Given the description of an element on the screen output the (x, y) to click on. 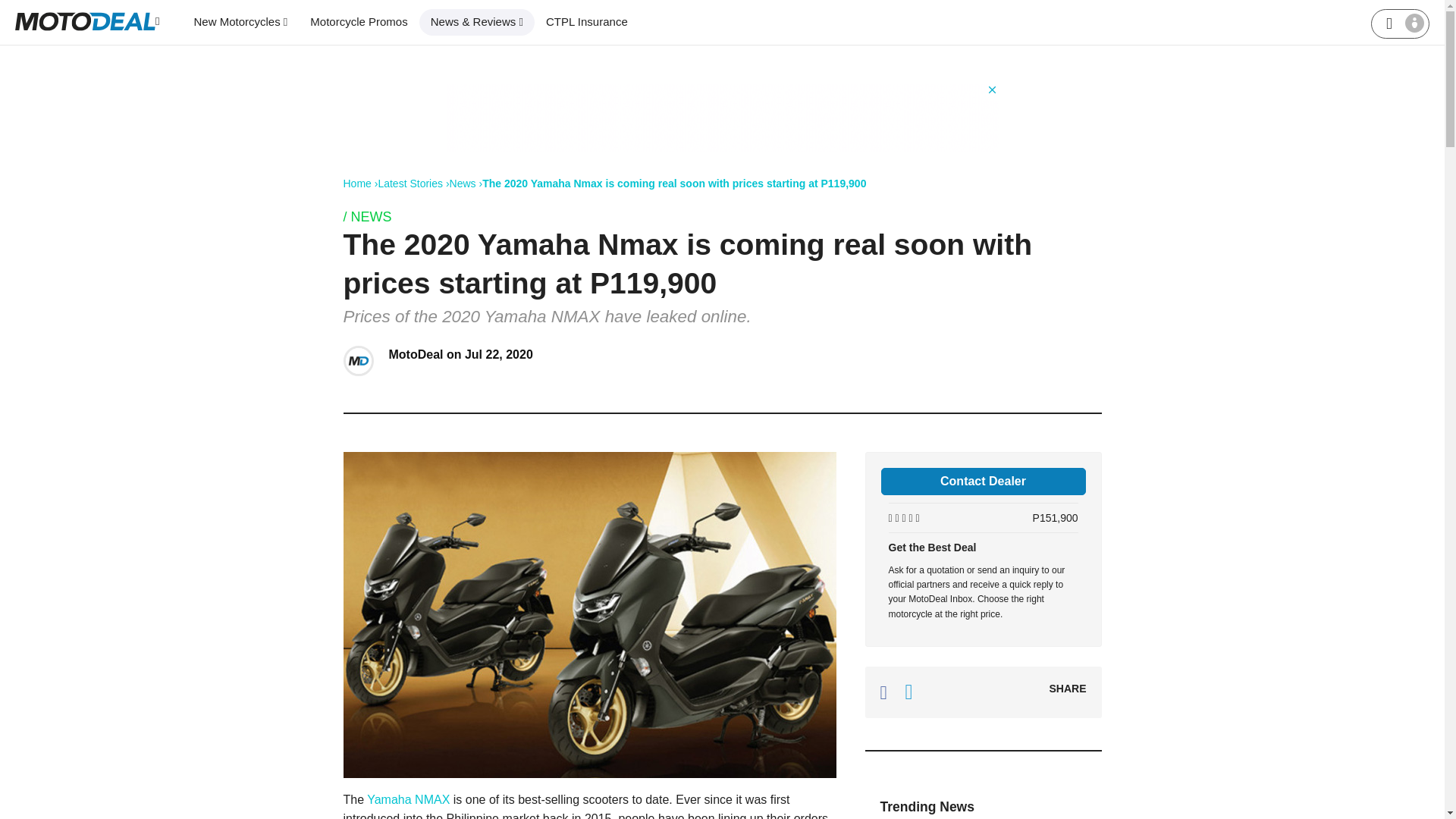
3rd party ad content (721, 117)
Yamaha Nmax 155 (409, 799)
MotoDeal on Jul 22, 2020 (460, 354)
CTPL Insurance (586, 22)
Motorcycle Promos (358, 22)
Yamaha NMAX (409, 799)
New Motorcycles (240, 22)
